Given the description of an element on the screen output the (x, y) to click on. 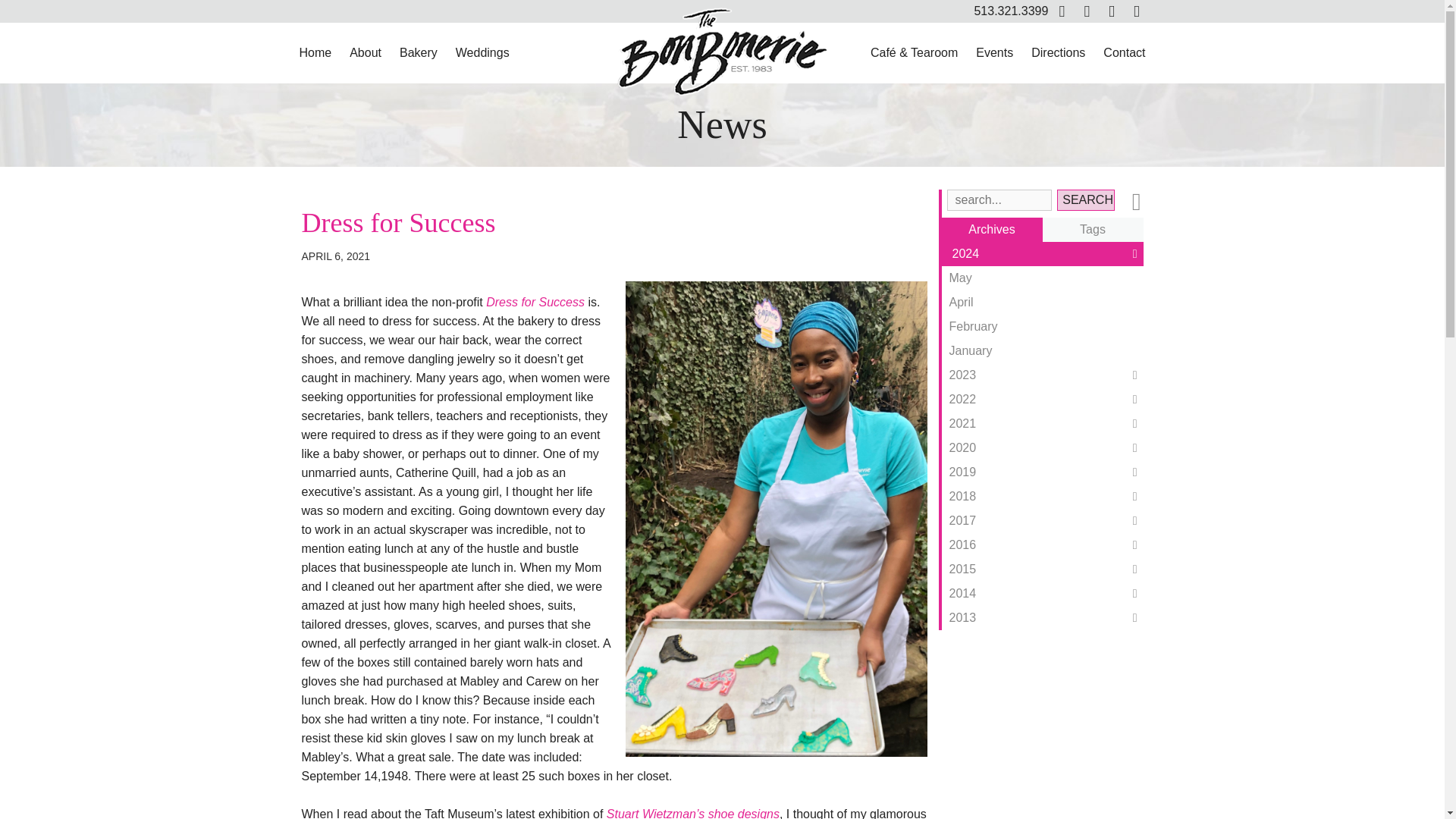
513.321.3399 (1011, 11)
visit our twitter page (1086, 11)
visit our yelp page (1136, 11)
February (1042, 326)
visit our Instagram page (1111, 11)
January (1042, 351)
Weddings (482, 52)
Contact (1124, 52)
Directions (1058, 52)
Search (1085, 199)
